Given the description of an element on the screen output the (x, y) to click on. 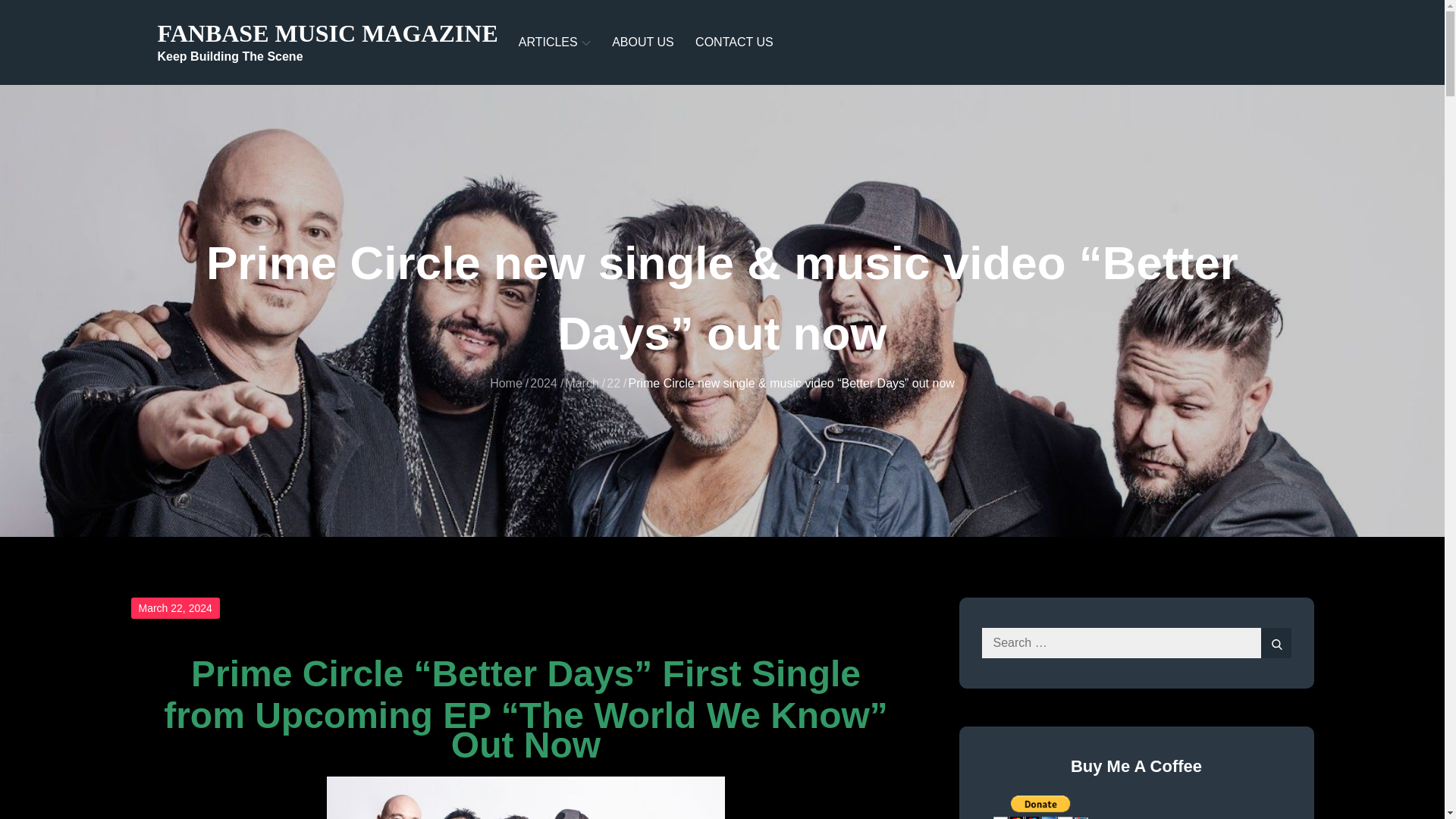
March (581, 382)
22 (613, 382)
March 22, 2024 (175, 608)
FANBASE MUSIC MAGAZINE (327, 32)
Search (1275, 643)
Home (505, 382)
ARTICLES (554, 42)
CONTACT US (734, 42)
2024 (543, 382)
ABOUT US (642, 42)
